Given the description of an element on the screen output the (x, y) to click on. 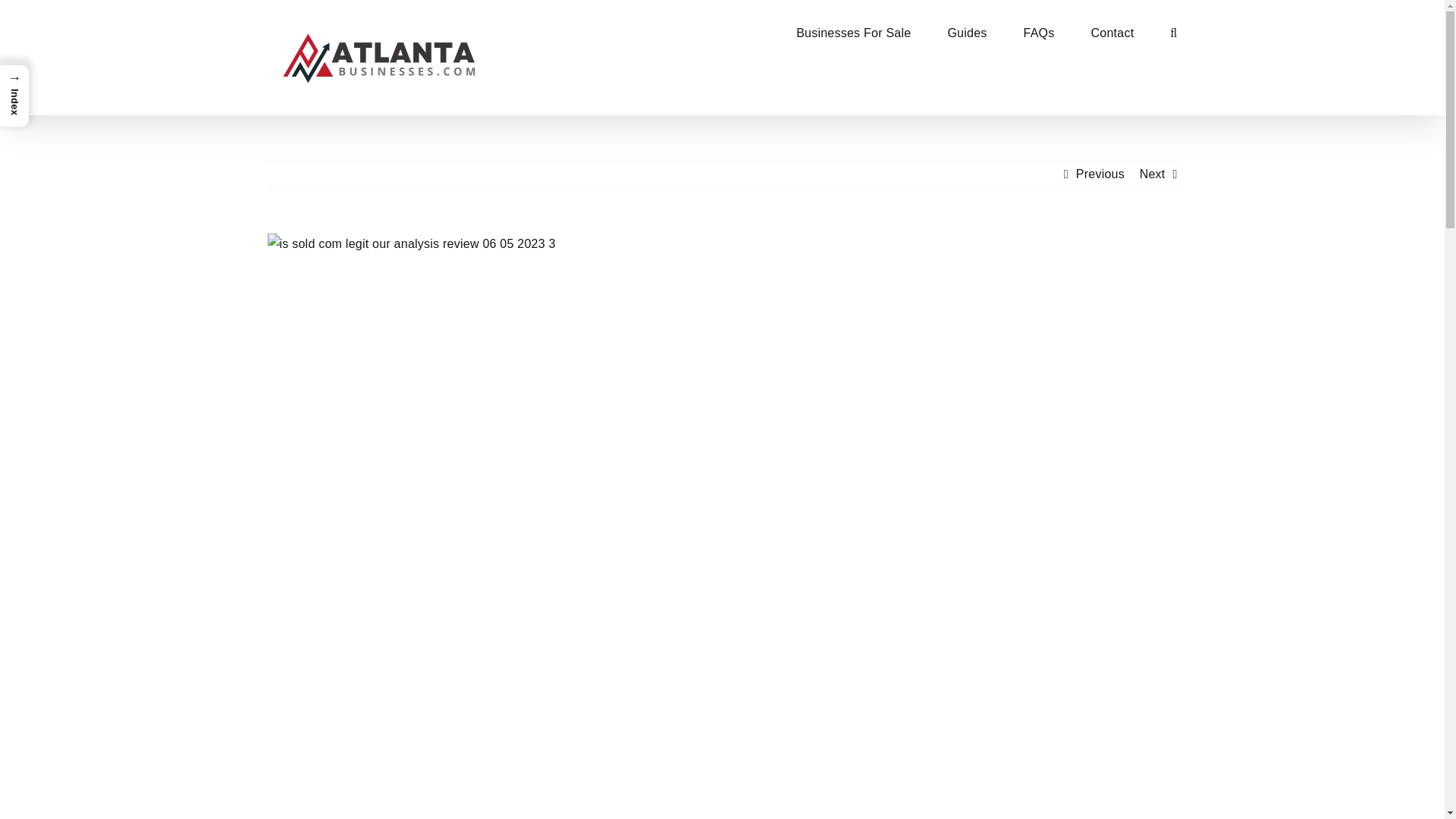
Previous (1099, 174)
Businesses For Sale (853, 31)
Next (1153, 174)
